Given the description of an element on the screen output the (x, y) to click on. 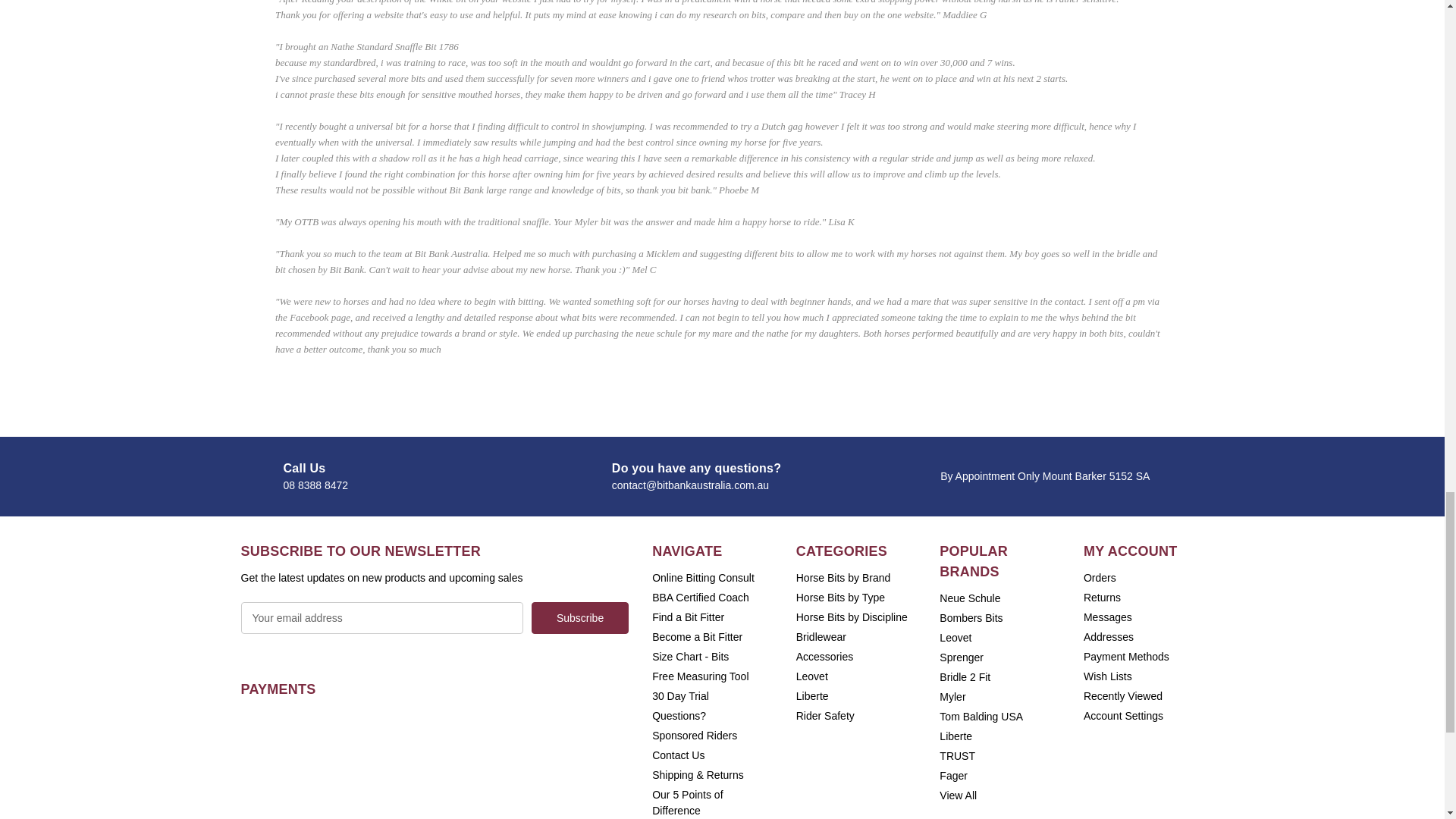
Subscribe (579, 617)
